Given the description of an element on the screen output the (x, y) to click on. 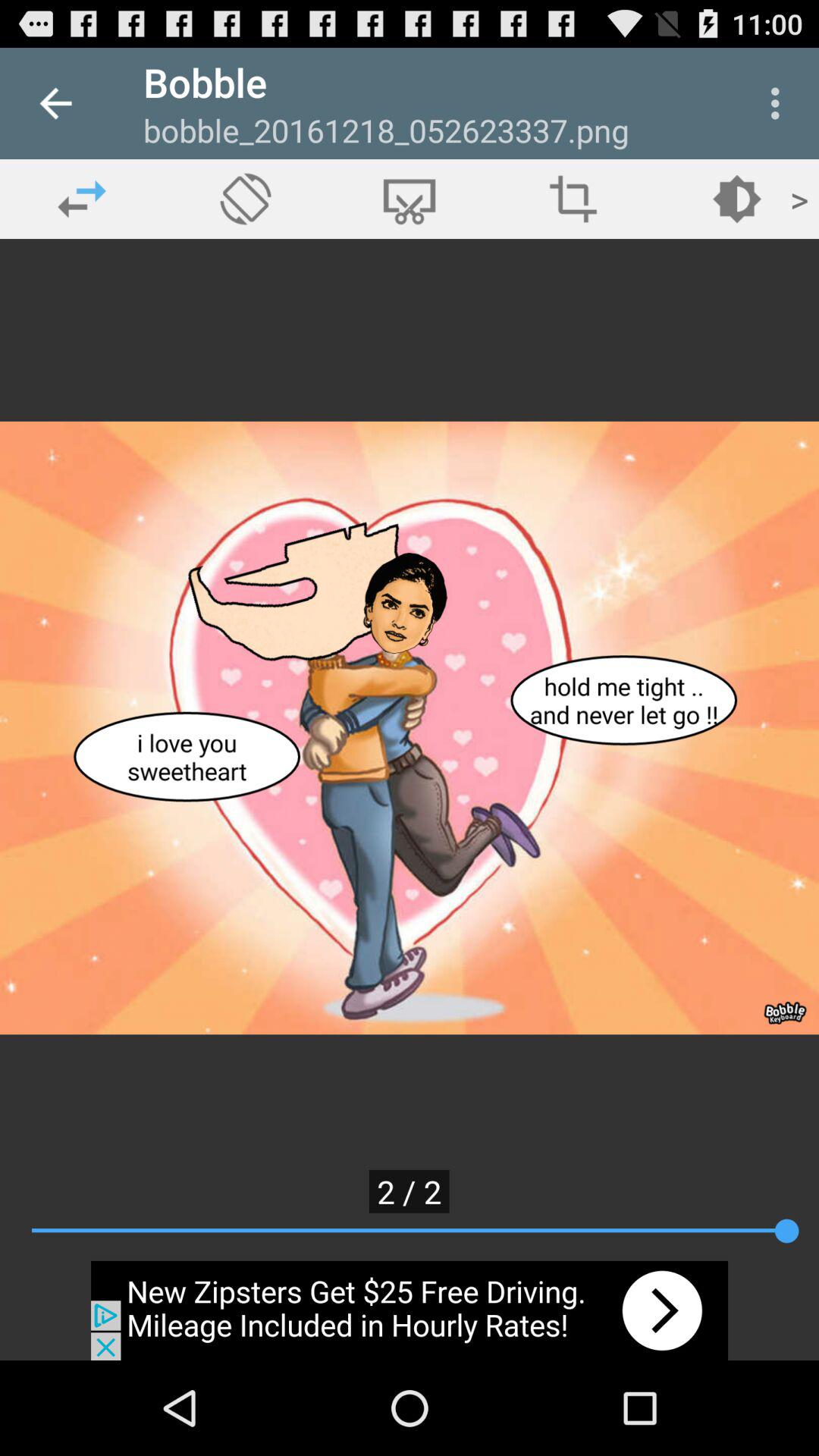
go to cut (409, 198)
